Given the description of an element on the screen output the (x, y) to click on. 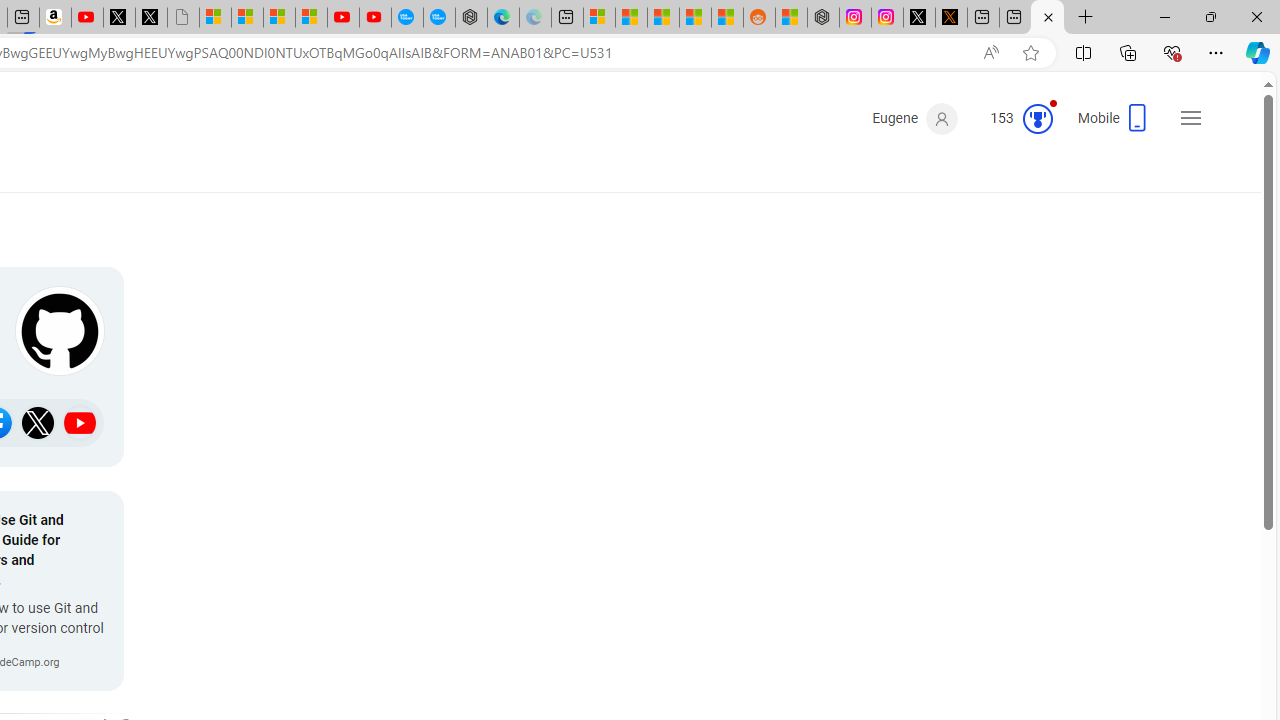
Gloom - YouTube (343, 17)
Nordace - Nordace has arrived Hong Kong (471, 17)
Mobile (1114, 124)
Settings and quick links (1190, 117)
